Given the description of an element on the screen output the (x, y) to click on. 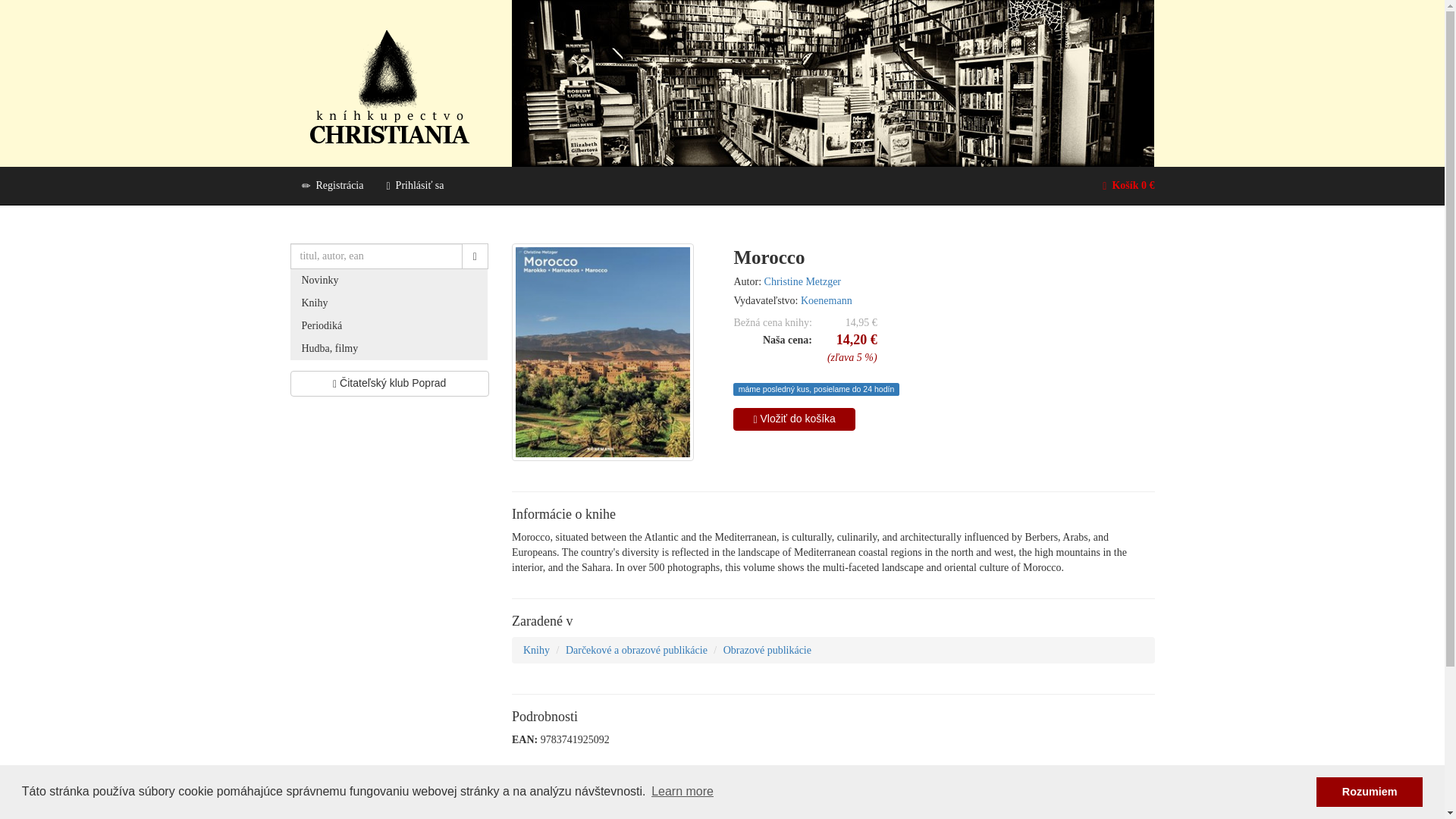
Hudba, filmy (389, 348)
Koenemann (825, 300)
Christine Metzger (802, 281)
Knihy (389, 302)
Knihy (536, 650)
Novinky (389, 280)
